Given the description of an element on the screen output the (x, y) to click on. 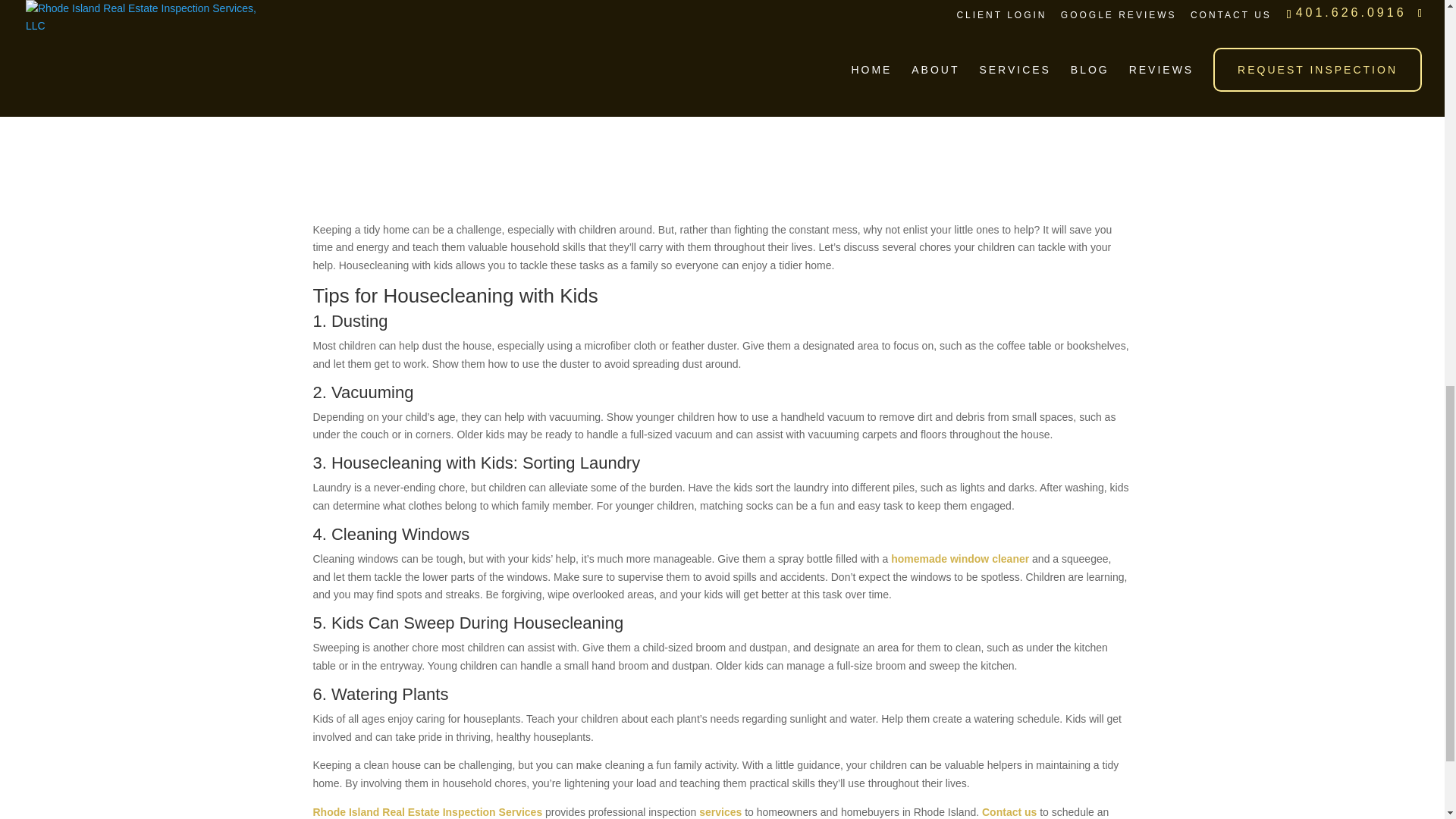
services (719, 811)
Contact us (1008, 811)
Rhode Island Real Estate Inspection Services (427, 811)
homemade window cleaner (960, 558)
